Given the description of an element on the screen output the (x, y) to click on. 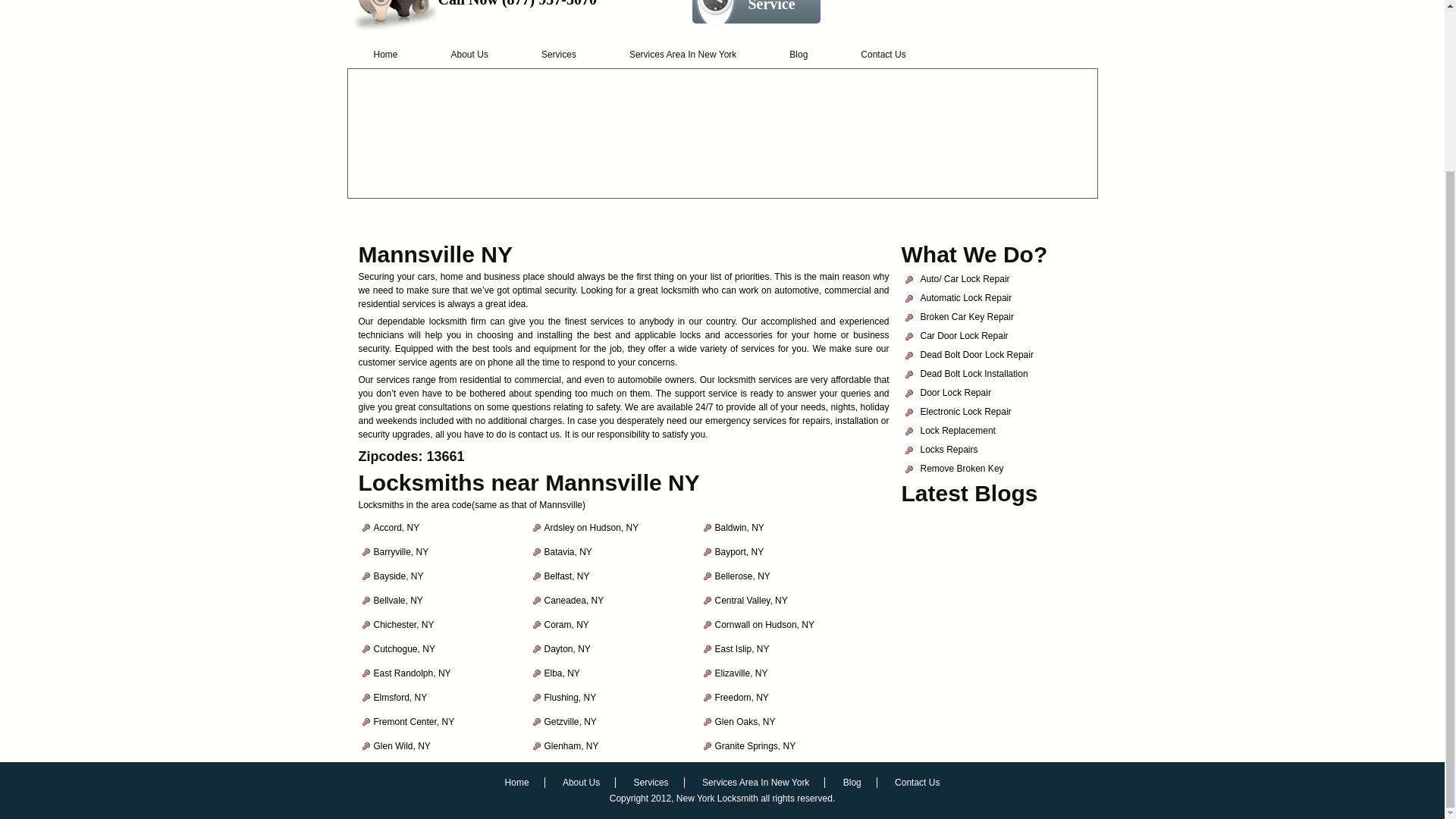
Cutchogue, NY (402, 648)
Accord, NY (395, 527)
Caneadea, NY (574, 600)
Glenham, NY (571, 746)
Ardsley on Hudson, NY (591, 527)
Contact Us (882, 54)
Bellvale, NY (397, 600)
Chichester, NY (402, 624)
